Given the description of an element on the screen output the (x, y) to click on. 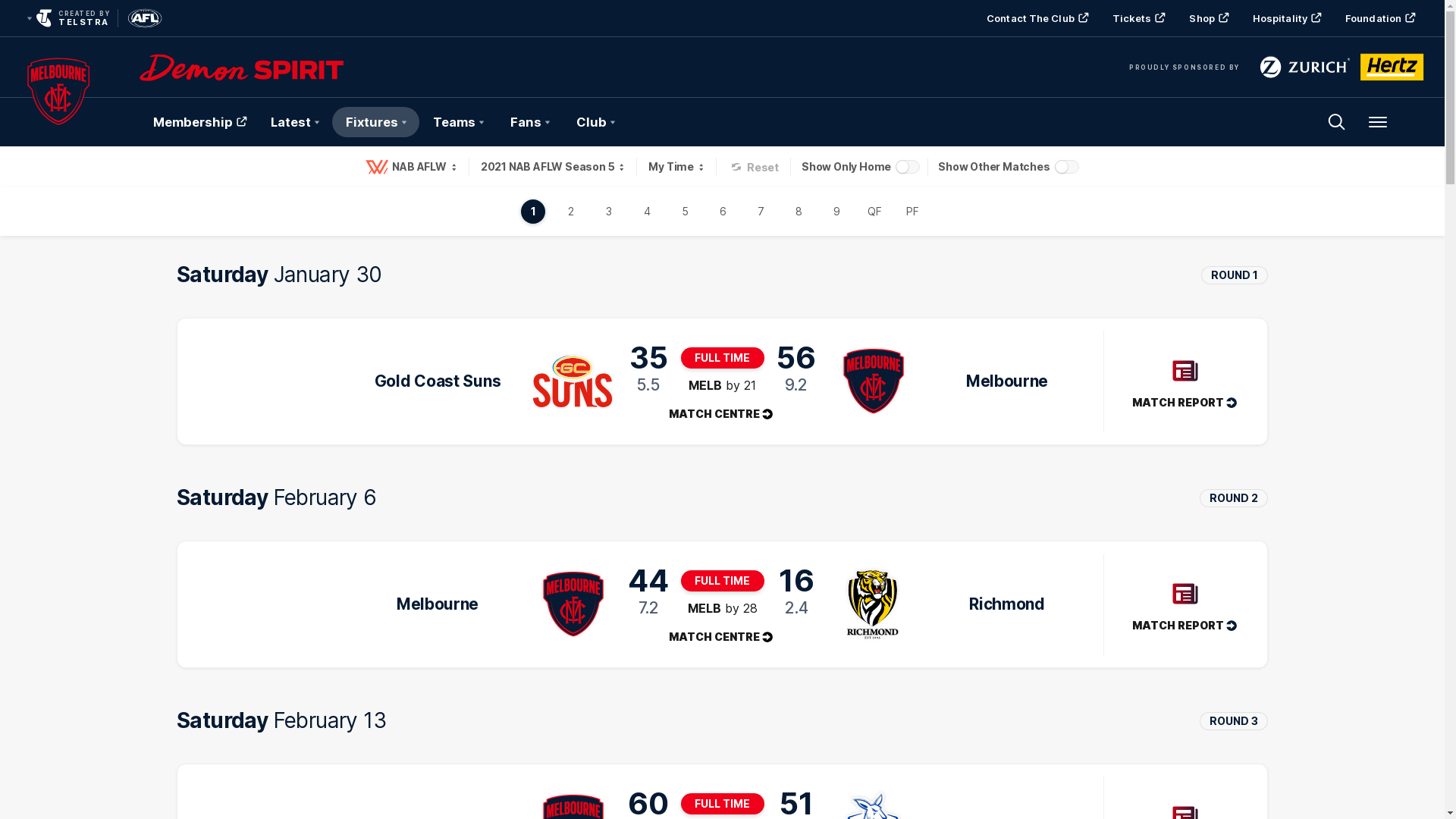
CREATED BY
TELSTRA Element type: text (66, 18)
Teams Element type: text (457, 121)
Foundation Element type: text (1378, 18)
Shop Element type: text (1206, 18)
Latest Element type: text (294, 121)
Club Element type: text (594, 121)
Fixtures Element type: text (375, 121)
Contact The Club Element type: text (1035, 18)
Tickets Element type: text (1137, 18)
MATCH REPORT Element type: text (1185, 381)
MATCH REPORT Element type: text (1185, 604)
Membership Element type: text (198, 121)
Club Logo Element type: text (57, 121)
Fans Element type: text (529, 121)
Hospitality Element type: text (1285, 18)
Reset Element type: text (755, 166)
Menu Element type: text (1377, 121)
